Given the description of an element on the screen output the (x, y) to click on. 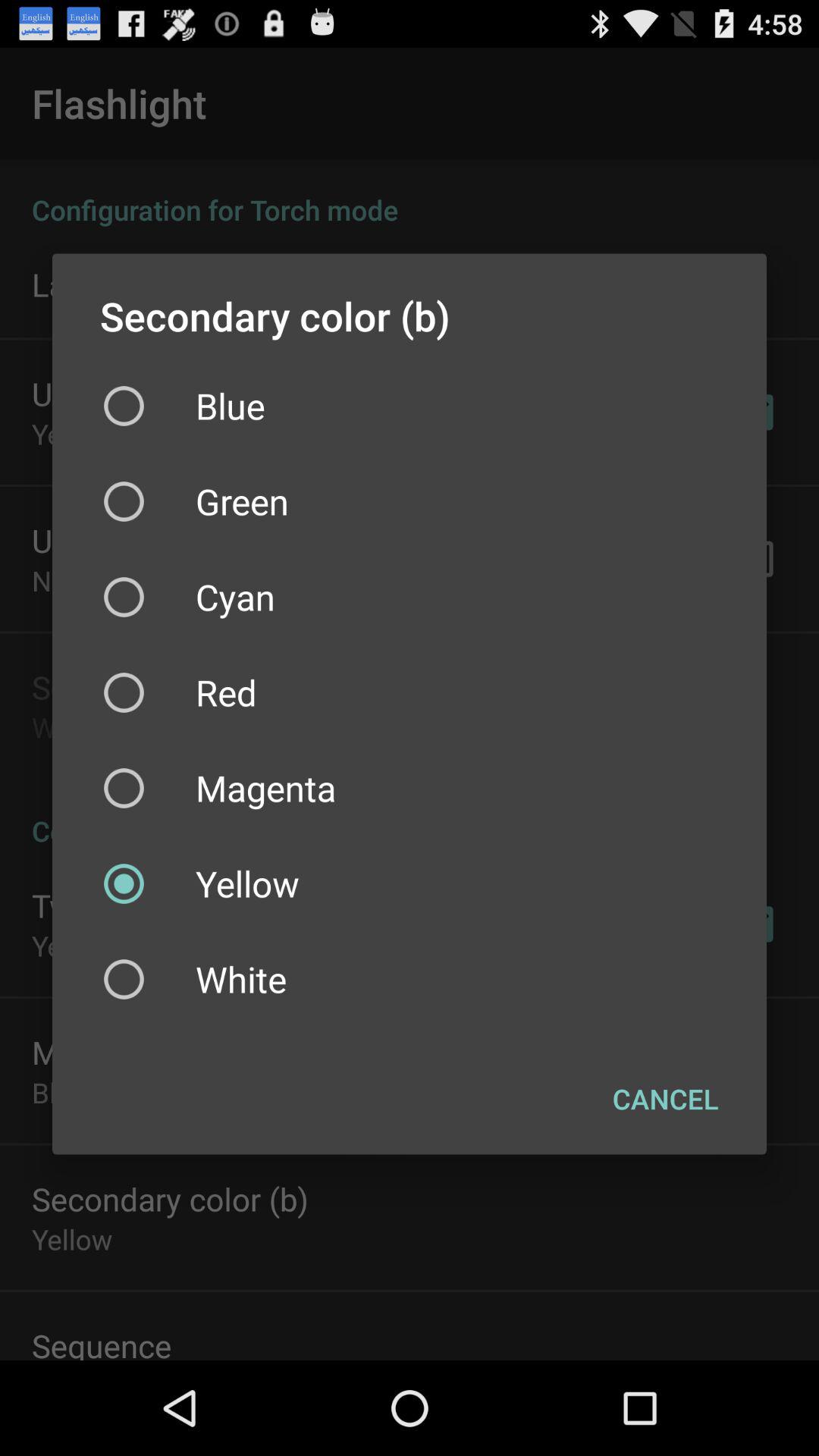
select item at the bottom right corner (665, 1098)
